Given the description of an element on the screen output the (x, y) to click on. 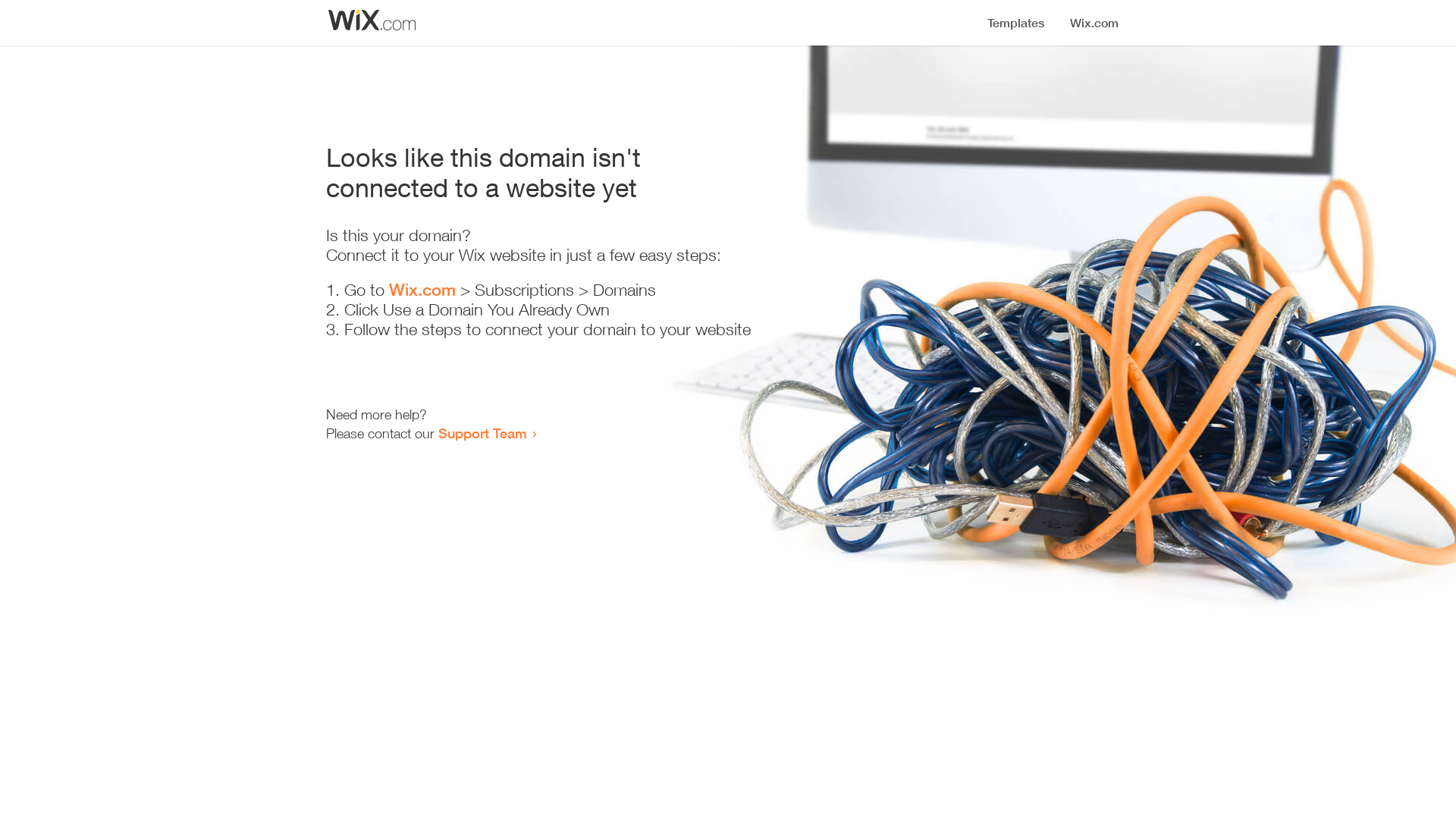
Wix.com Element type: text (422, 289)
Support Team Element type: text (482, 432)
